Given the description of an element on the screen output the (x, y) to click on. 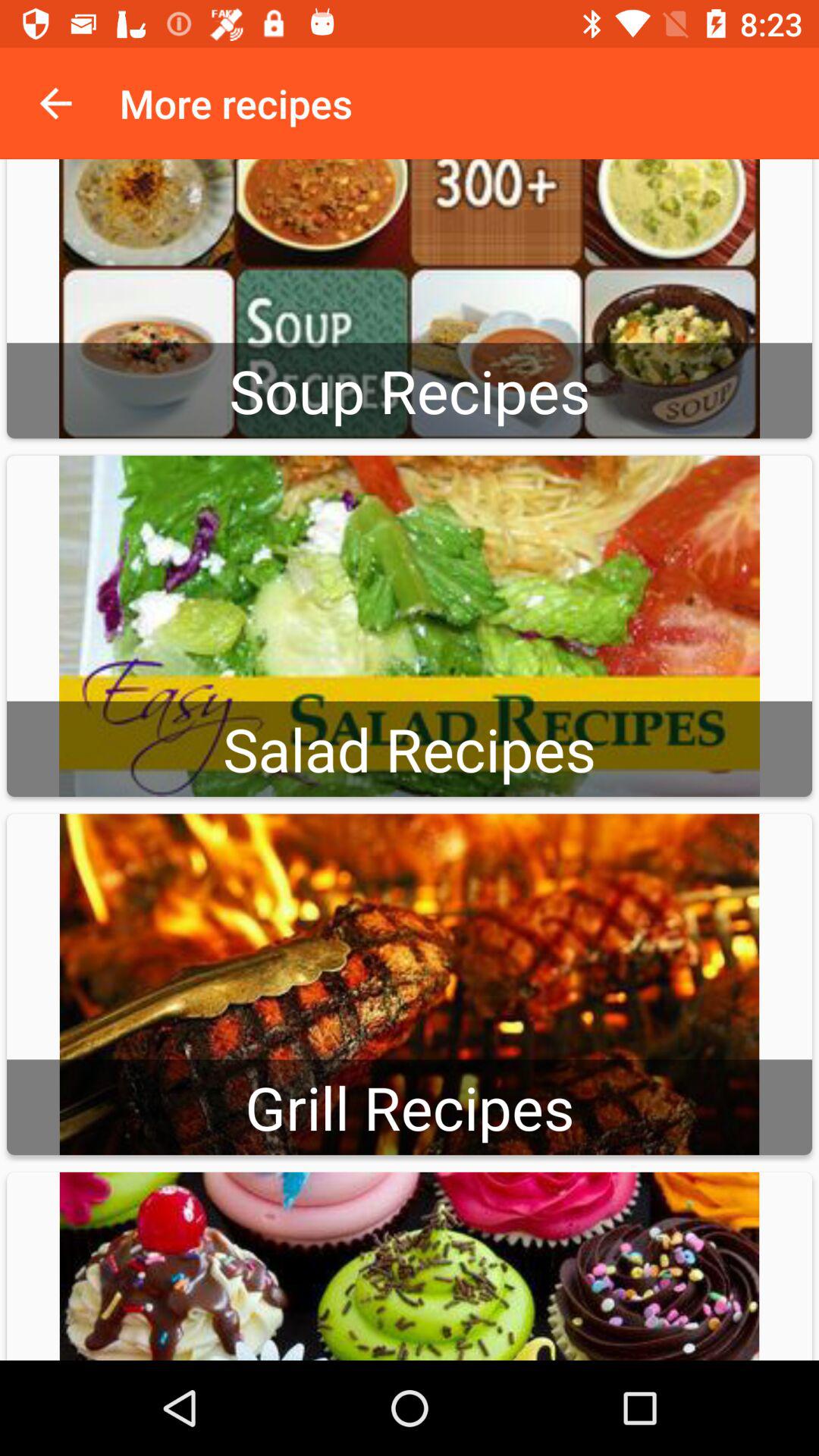
open item to the left of the more recipes (55, 103)
